Given the description of an element on the screen output the (x, y) to click on. 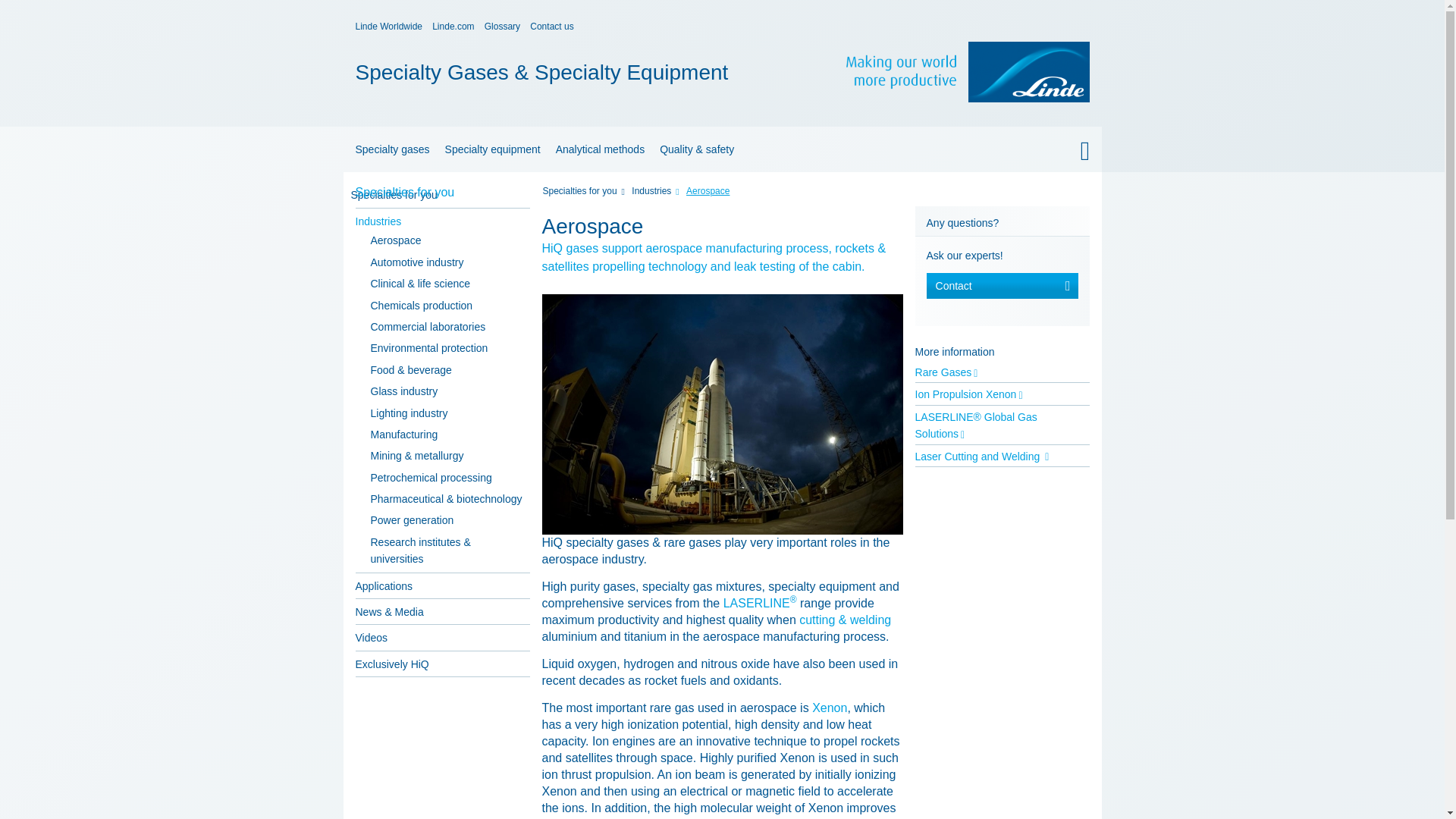
Glossary (501, 26)
Specialty equipment (493, 148)
Linde.com (453, 26)
Contact us (551, 26)
Specialty gases (721, 194)
Specialty gases (389, 148)
Linde Worldwide (388, 26)
